Given the description of an element on the screen output the (x, y) to click on. 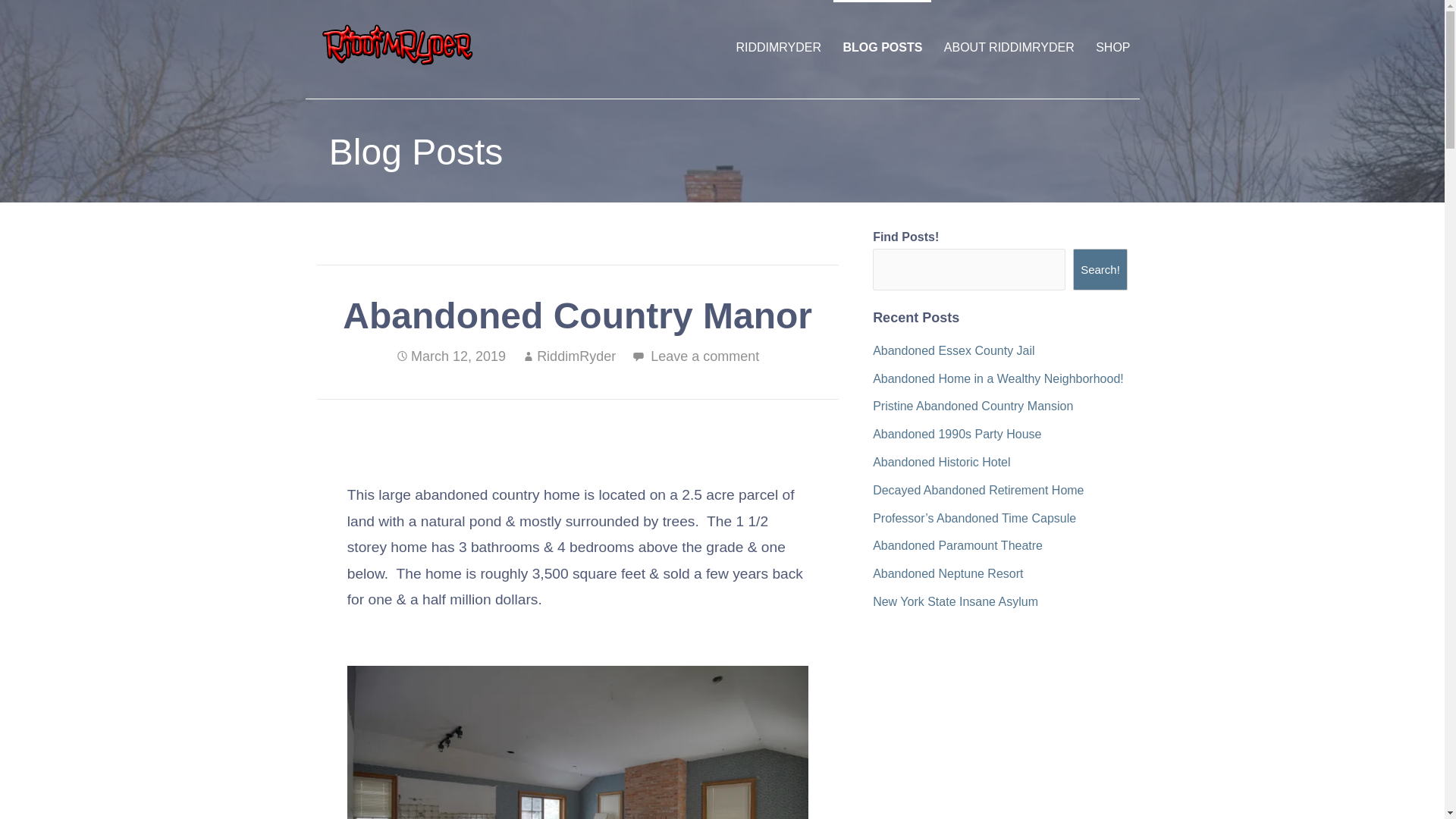
Leave a comment (704, 355)
RiddimRyder (576, 355)
Posts by RiddimRyder (576, 355)
Abandoned Country Manor (577, 742)
About Urbex Photographer RiddimRyder (1008, 47)
ABOUT RIDDIMRYDER (1008, 47)
BLOG POSTS (881, 47)
RIDDIMRYDER (777, 47)
